Given the description of an element on the screen output the (x, y) to click on. 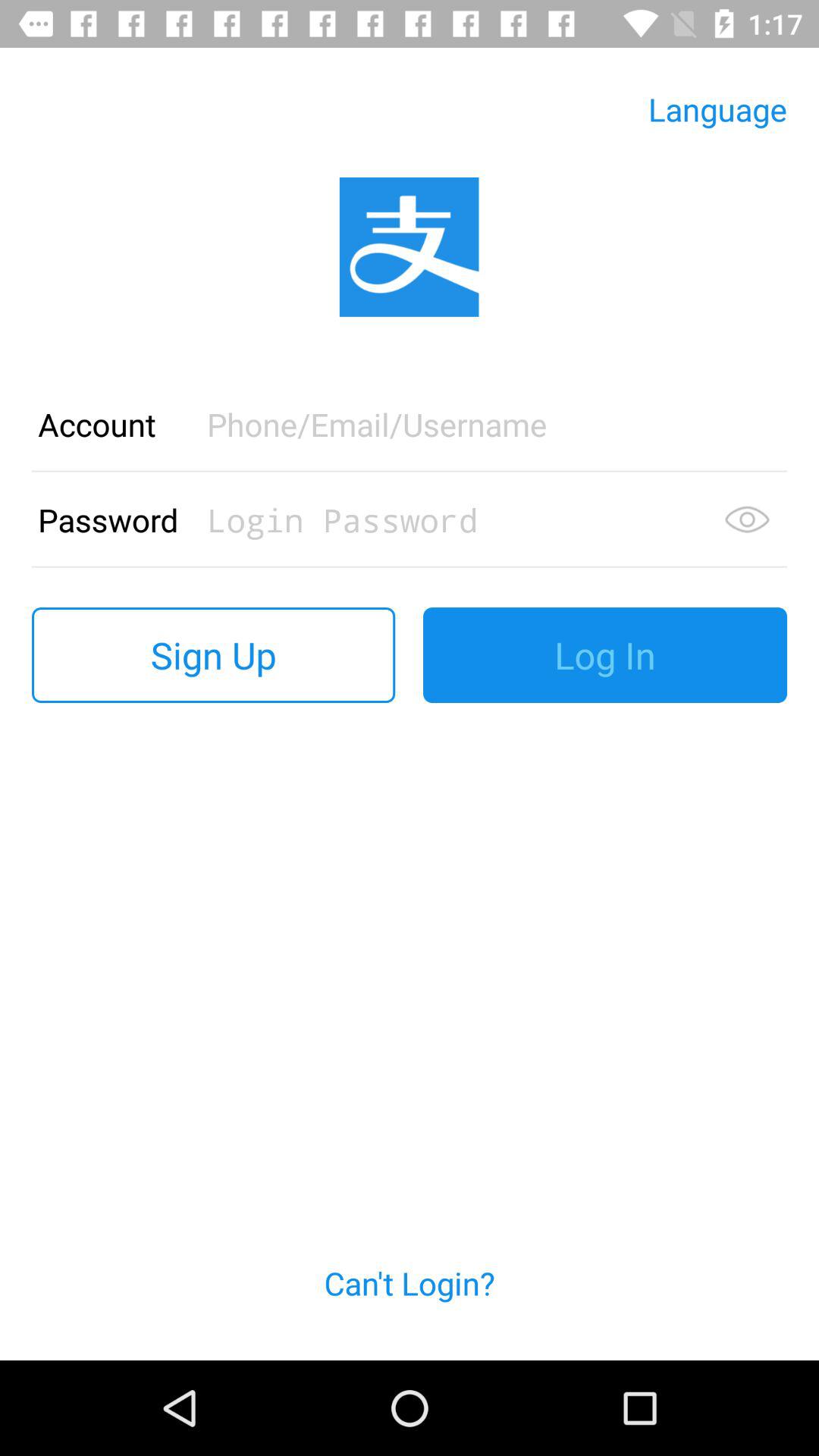
swipe until the sign up button (213, 654)
